Given the description of an element on the screen output the (x, y) to click on. 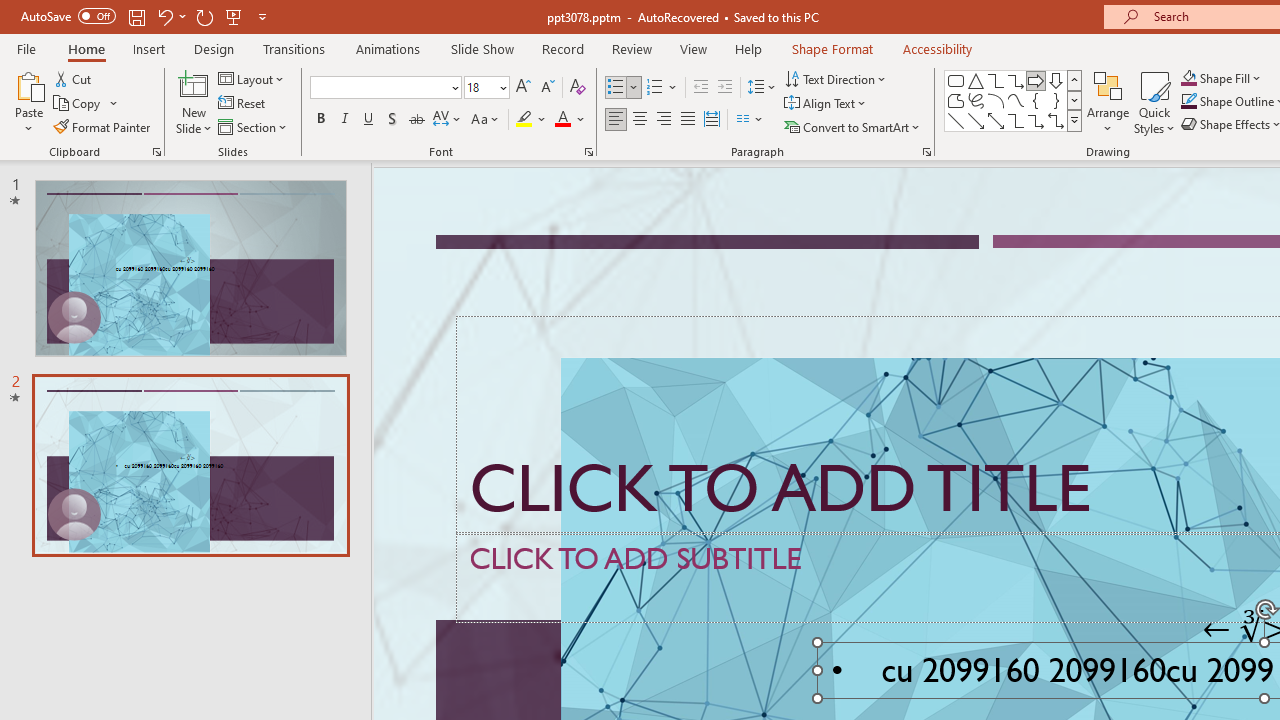
Connector: Elbow Double-Arrow (1055, 120)
